Given the description of an element on the screen output the (x, y) to click on. 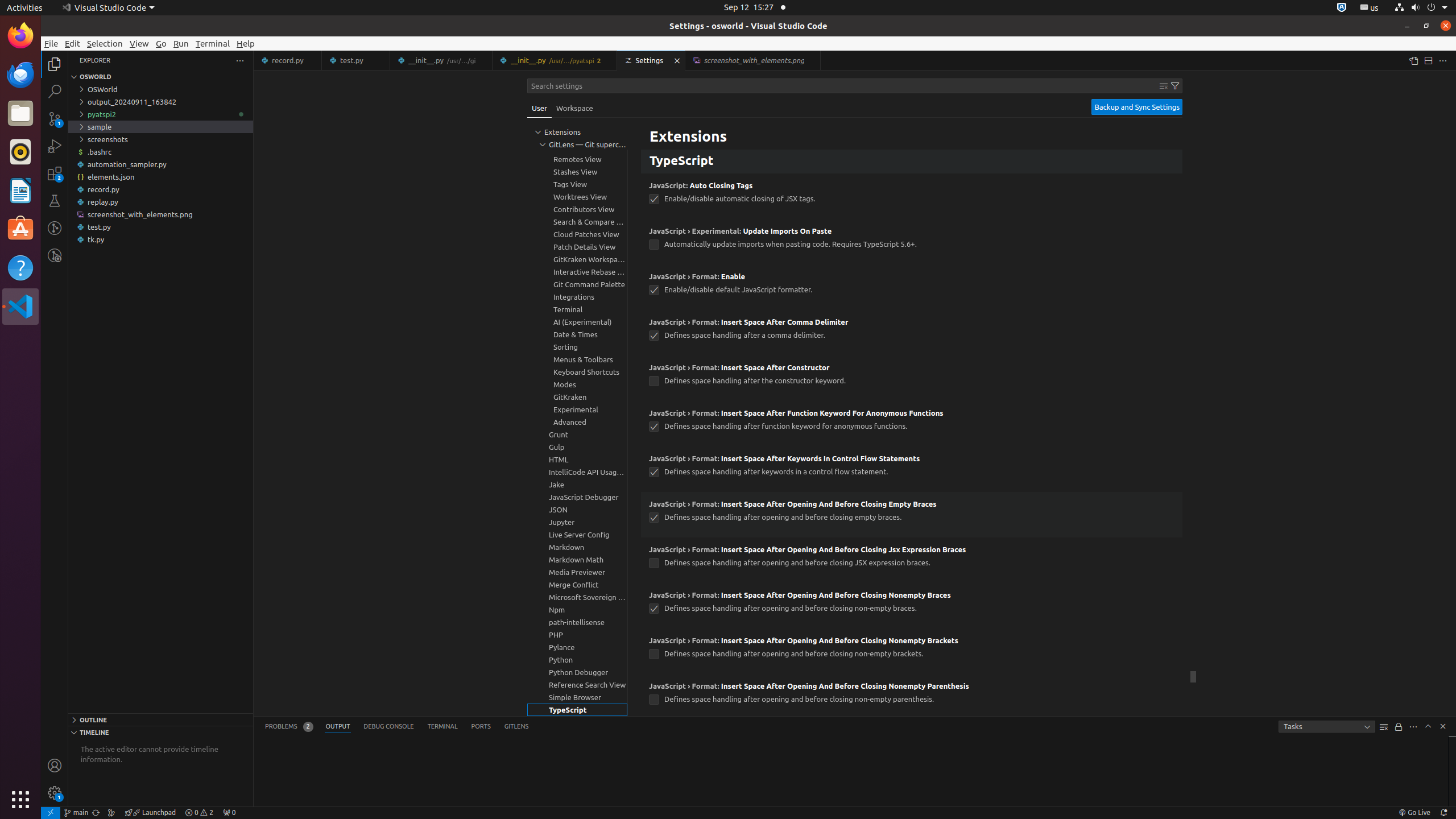
Pylance, group Element type: tree-item (577, 646)
Workspace Element type: check-box (574, 107)
Experimental, group Element type: tree-item (577, 409)
